Given the description of an element on the screen output the (x, y) to click on. 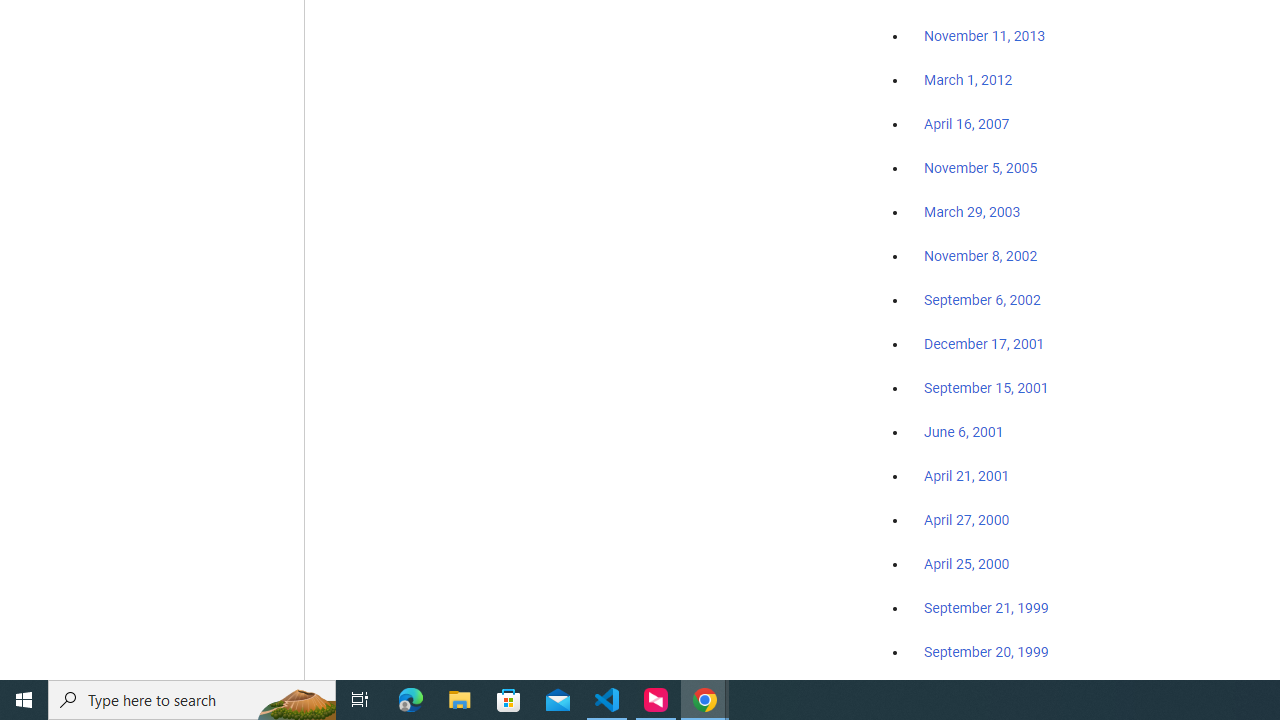
April 27, 2000 (966, 520)
December 17, 2001 (984, 343)
September 21, 1999 (986, 608)
November 5, 2005 (981, 168)
September 20, 1999 (986, 651)
April 16, 2007 (966, 124)
June 6, 2001 (963, 431)
September 6, 2002 (982, 299)
April 21, 2001 (966, 476)
April 25, 2000 (966, 564)
November 8, 2002 (981, 255)
November 11, 2013 (984, 37)
September 15, 2001 (986, 387)
March 29, 2003 (972, 212)
March 1, 2012 (968, 81)
